Given the description of an element on the screen output the (x, y) to click on. 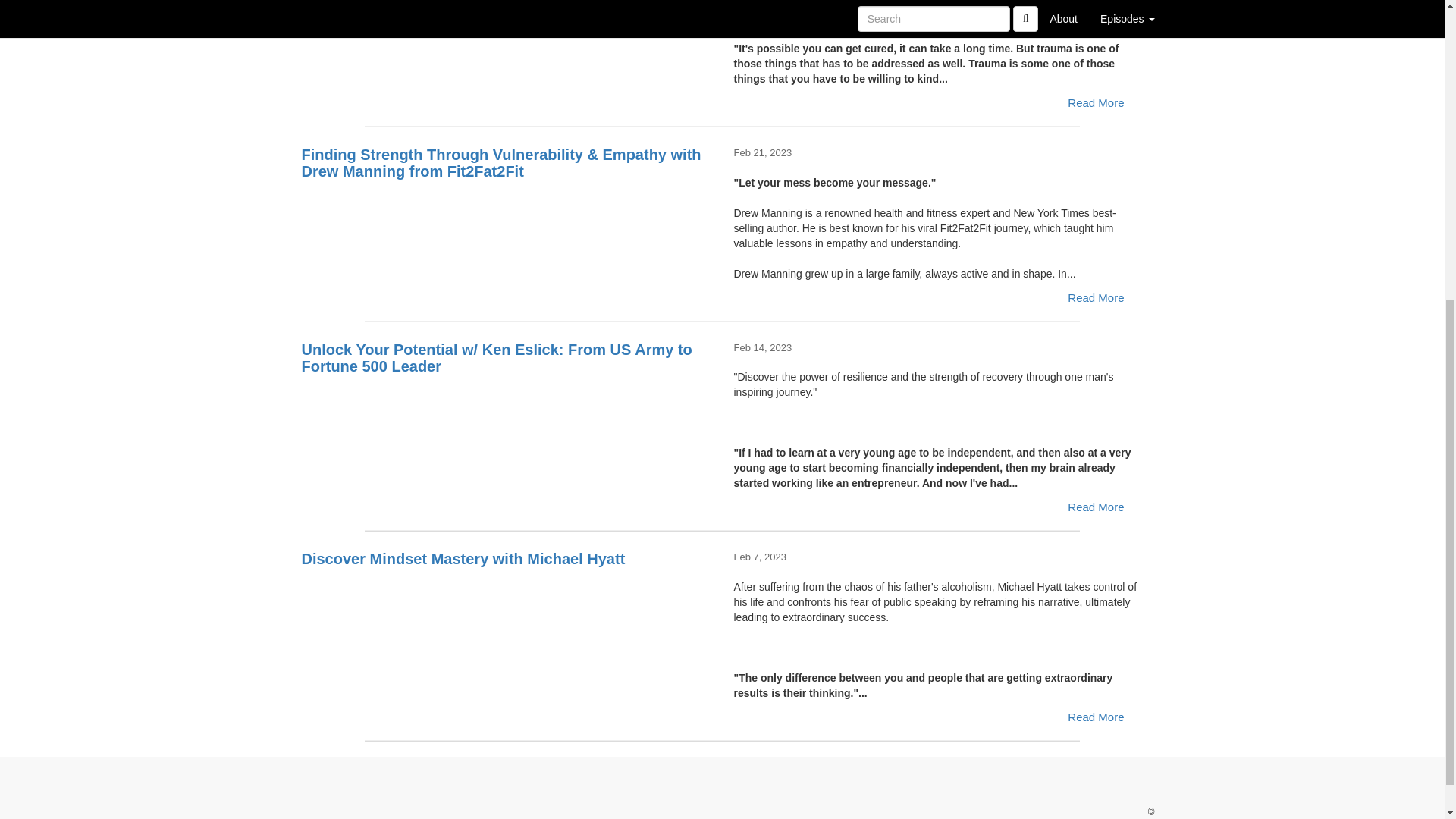
A Pilgrimage from Suppression to Freedom with Lizzie Ens (506, 28)
Discover Mindset Mastery with Michael Hyatt (506, 604)
